Given the description of an element on the screen output the (x, y) to click on. 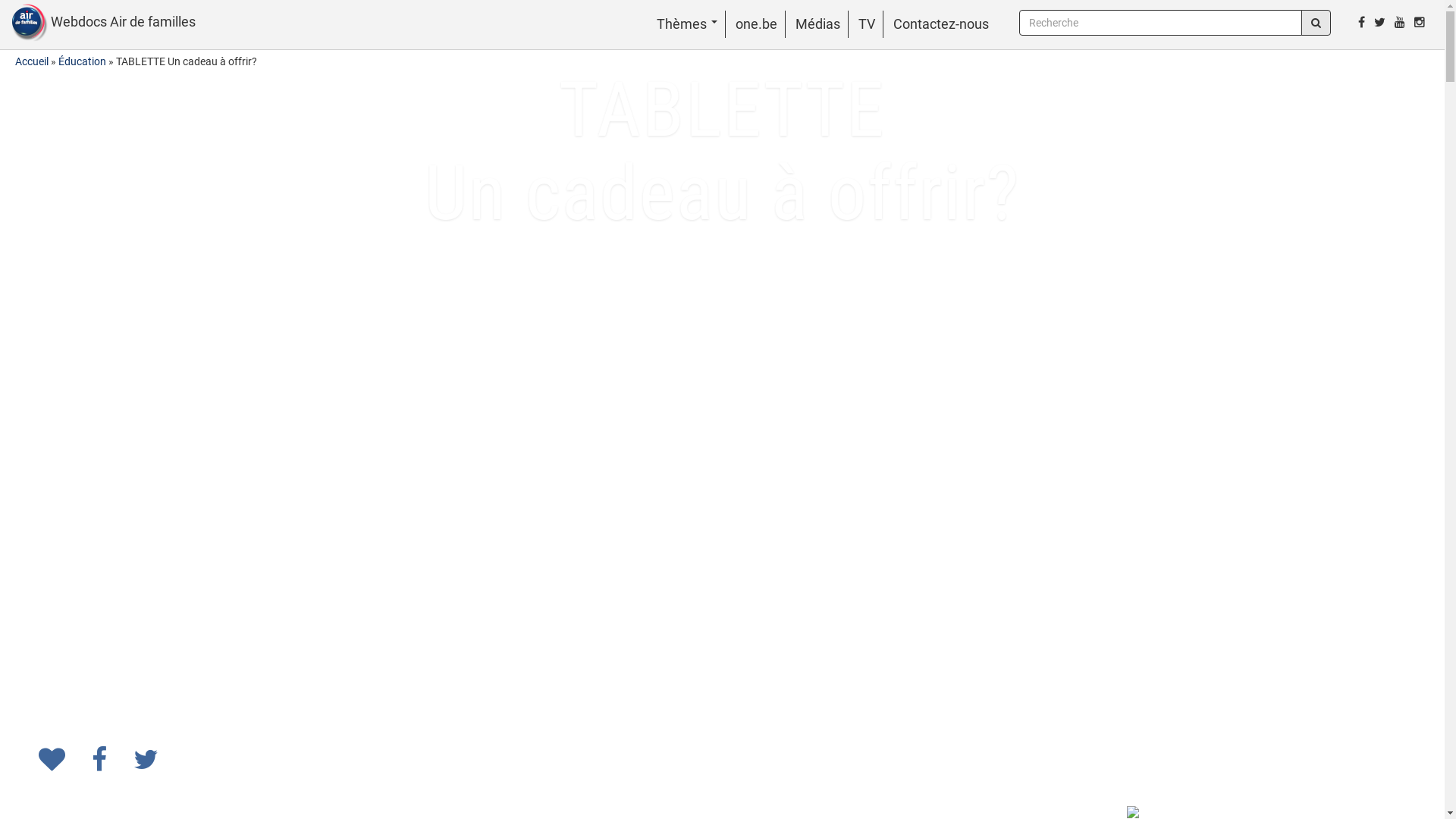
Youtube de l'ONE Element type: hover (1399, 22)
Webdocs Air de familles Element type: text (97, 22)
Facebook de l'ONE Element type: hover (1361, 22)
one.be Element type: text (756, 23)
Accueil Element type: text (31, 61)
TV Element type: text (866, 23)
Twitte de l'ONE Element type: hover (1379, 22)
Contactez-nous Element type: text (940, 23)
Instagram de l'ONE Element type: hover (1419, 22)
